Given the description of an element on the screen output the (x, y) to click on. 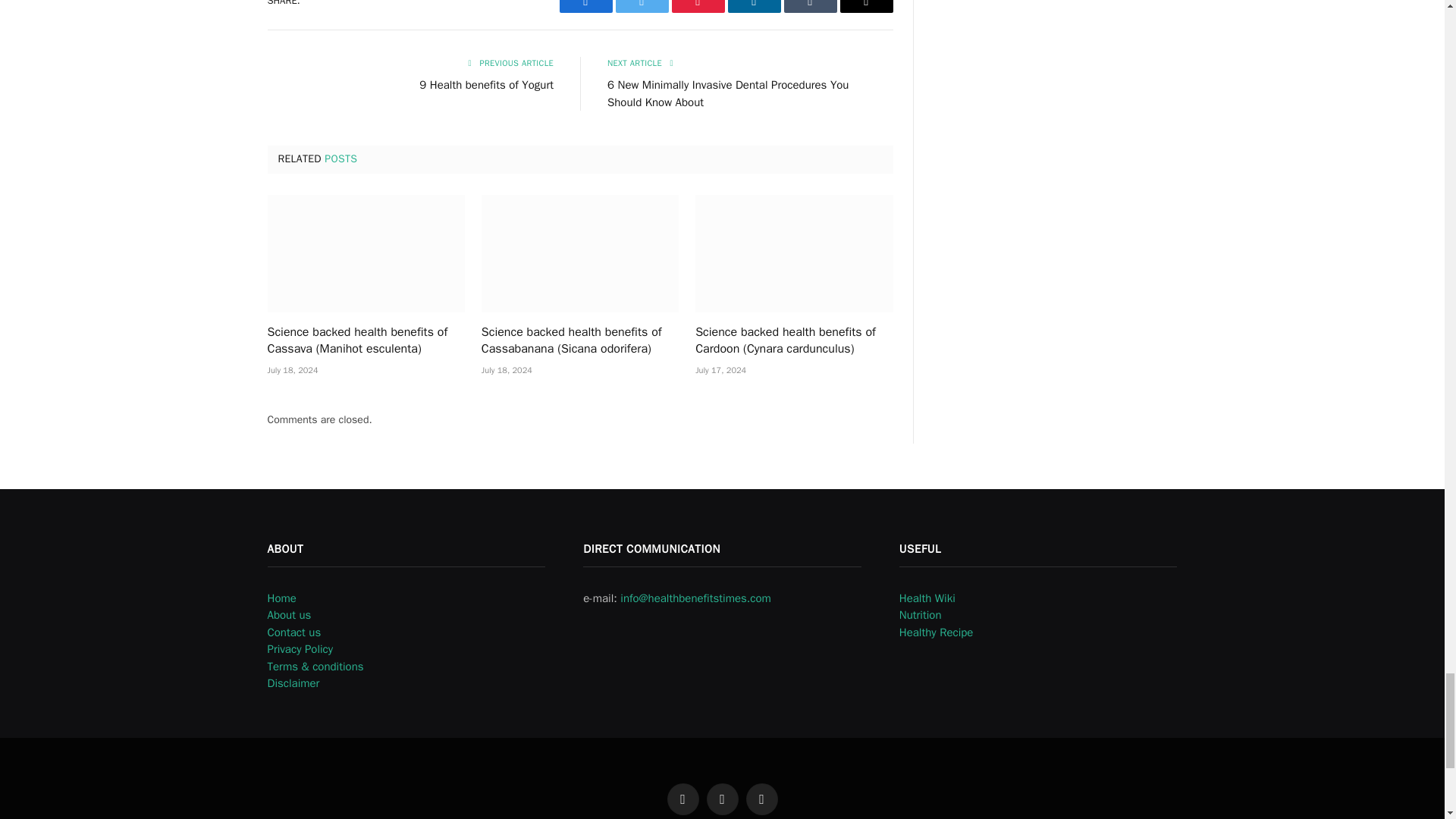
Facebook (585, 6)
Share on Facebook (585, 6)
Pinterest (698, 6)
LinkedIn (754, 6)
Tumblr (810, 6)
Share on Twitter (641, 6)
Share on LinkedIn (754, 6)
Share on Pinterest (698, 6)
Twitter (641, 6)
